Given the description of an element on the screen output the (x, y) to click on. 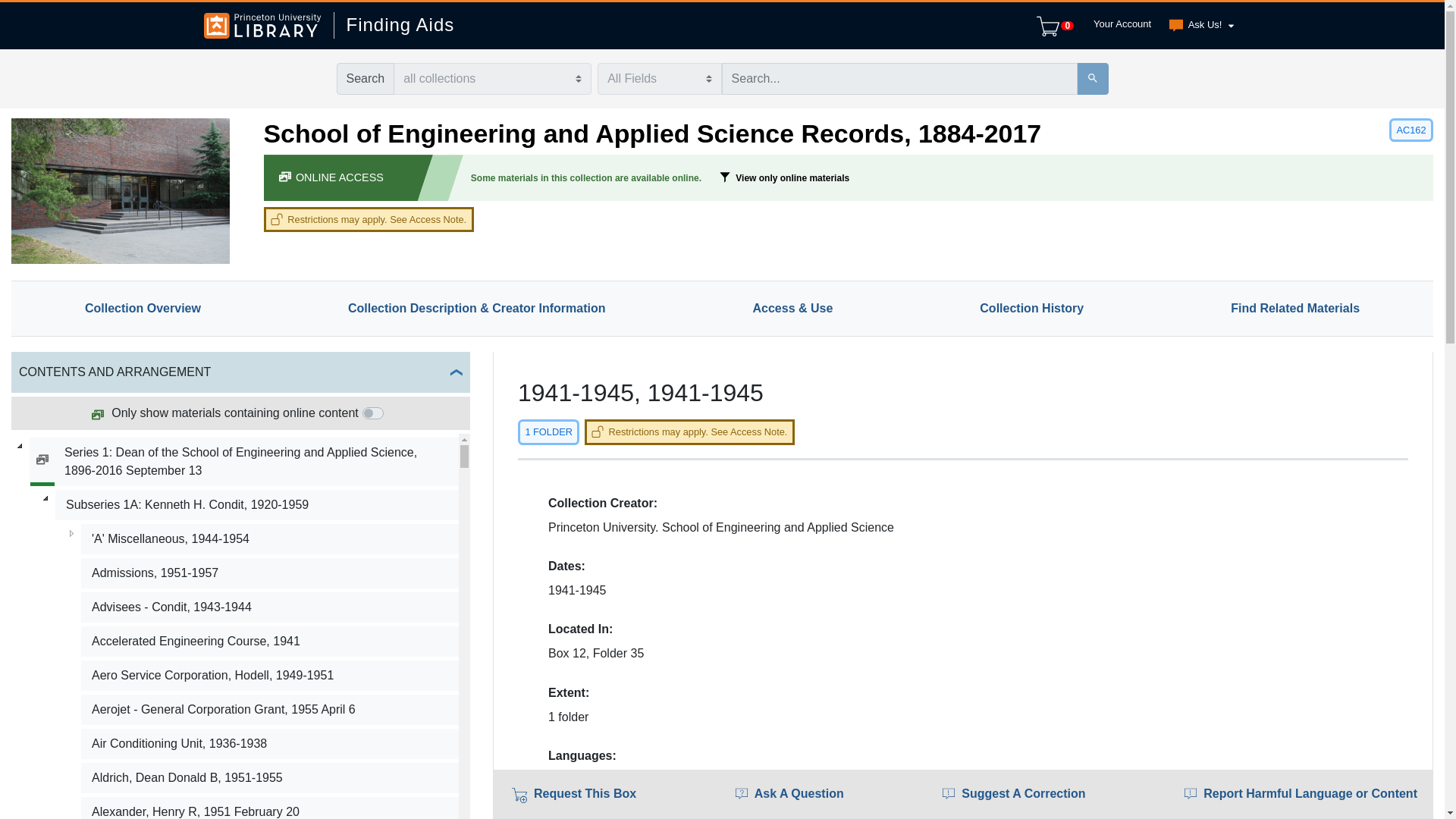
Subseries 1A: Kenneth H. Condit, 1920-1959 (256, 504)
Alexander, Henry R, 1951 February 20 (269, 807)
Ask Us! (1198, 25)
Aero Service Corporation, Hodell, 1949-1951 (269, 675)
Aerojet - General Corporation Grant, 1955 April 6 (269, 709)
Accelerated Engineering Course, 1941 (269, 641)
Targeted search options (658, 79)
Finding Aids (393, 25)
Aldrich, Dean Donald B, 1951-1955 (269, 777)
Collection History (1031, 308)
Finding Aids (393, 25)
Collection Overview (143, 308)
Air Conditioning Unit, 1936-1938 (269, 743)
Skip to main content (39, 9)
Advisees - Condit, 1943-1944 (269, 607)
